Given the description of an element on the screen output the (x, y) to click on. 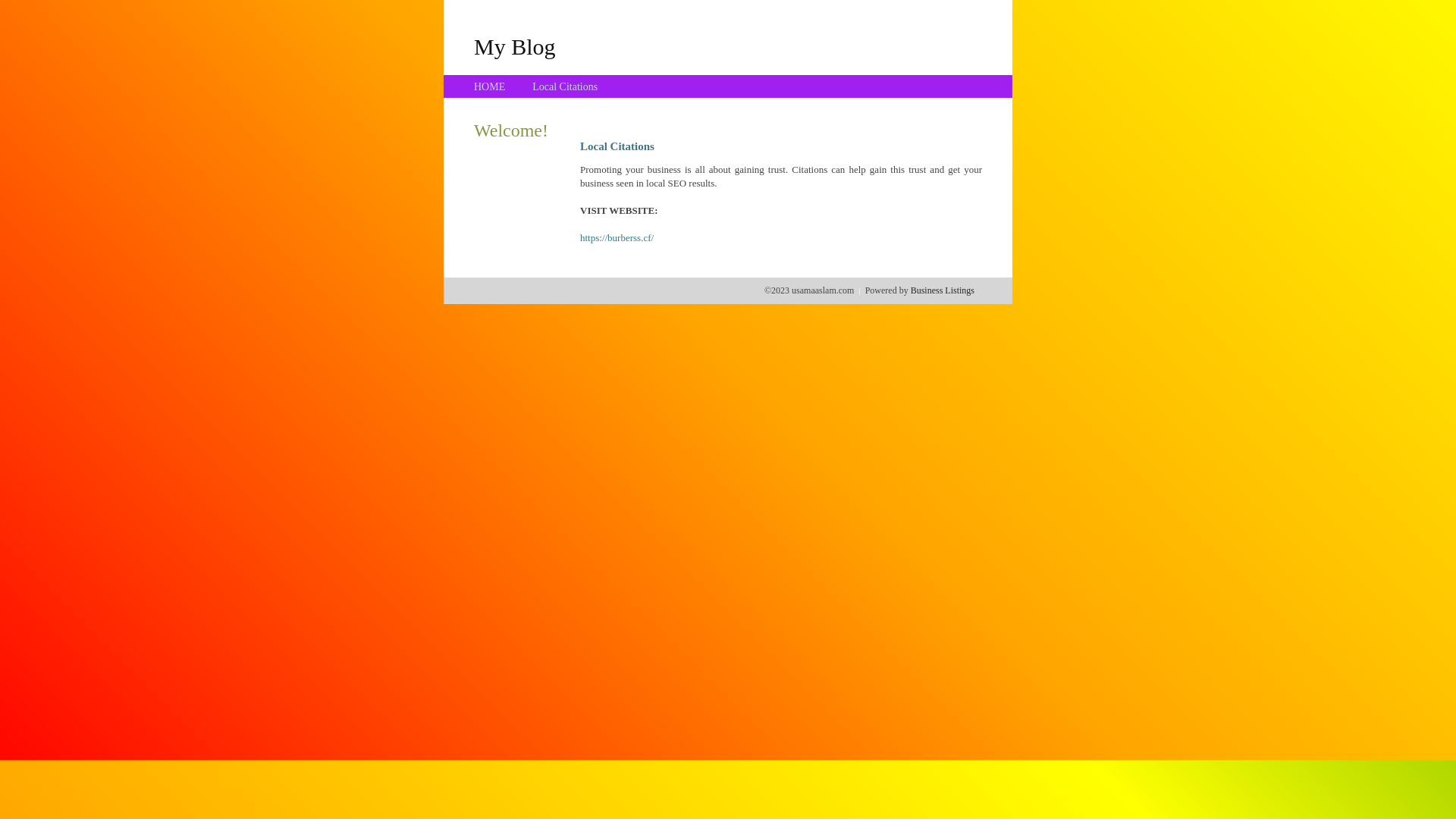
Business Listings Element type: text (942, 290)
https://burberss.cf/ Element type: text (616, 237)
Local Citations Element type: text (564, 86)
My Blog Element type: text (514, 46)
HOME Element type: text (489, 86)
